Given the description of an element on the screen output the (x, y) to click on. 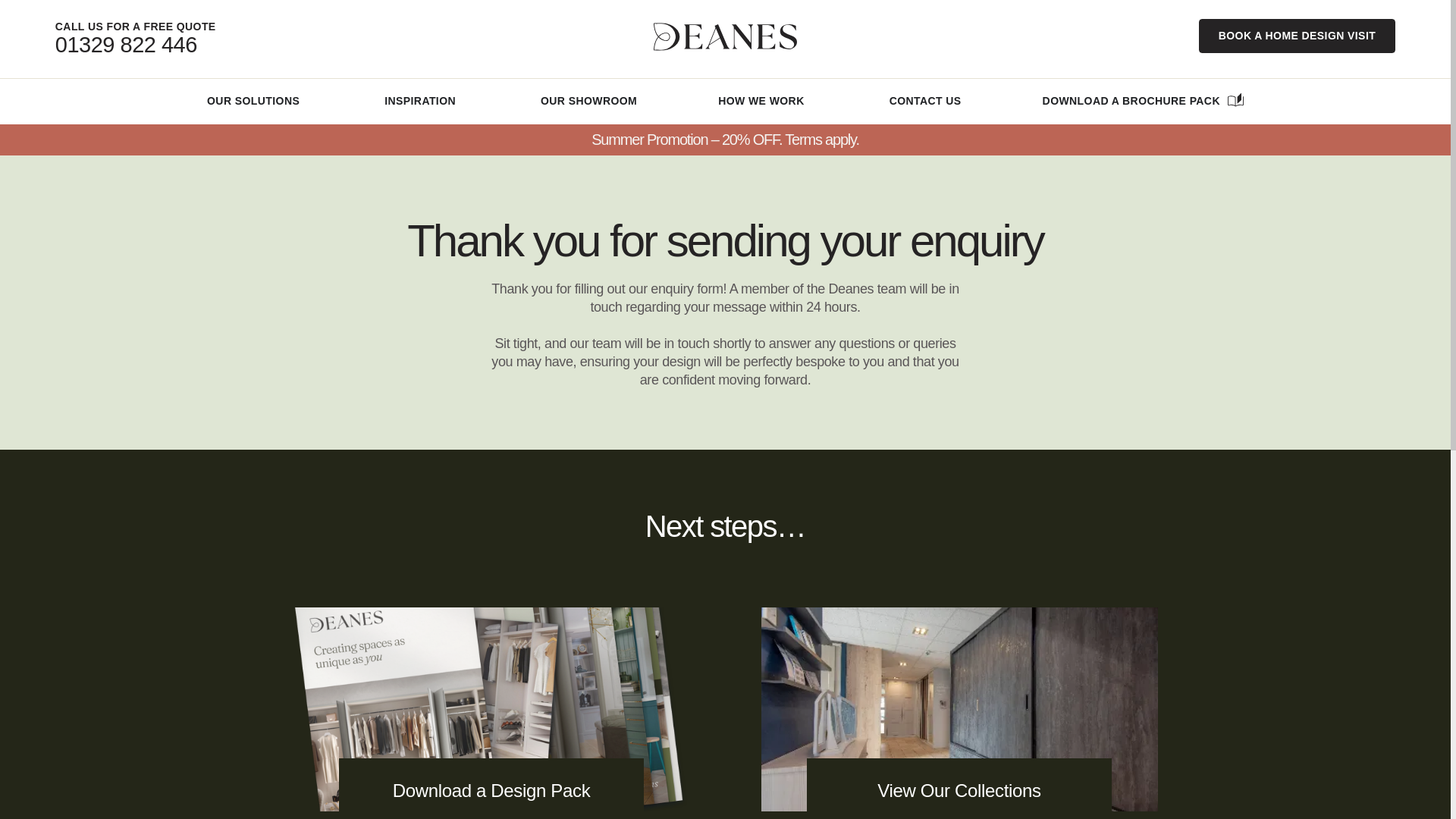
CONTACT US (924, 100)
01329 822 446 (125, 44)
OUR SHOWROOM (588, 100)
DOWNLOAD A BROCHURE PACK (1131, 100)
BOOK A HOME DESIGN VISIT (1296, 35)
